Given the description of an element on the screen output the (x, y) to click on. 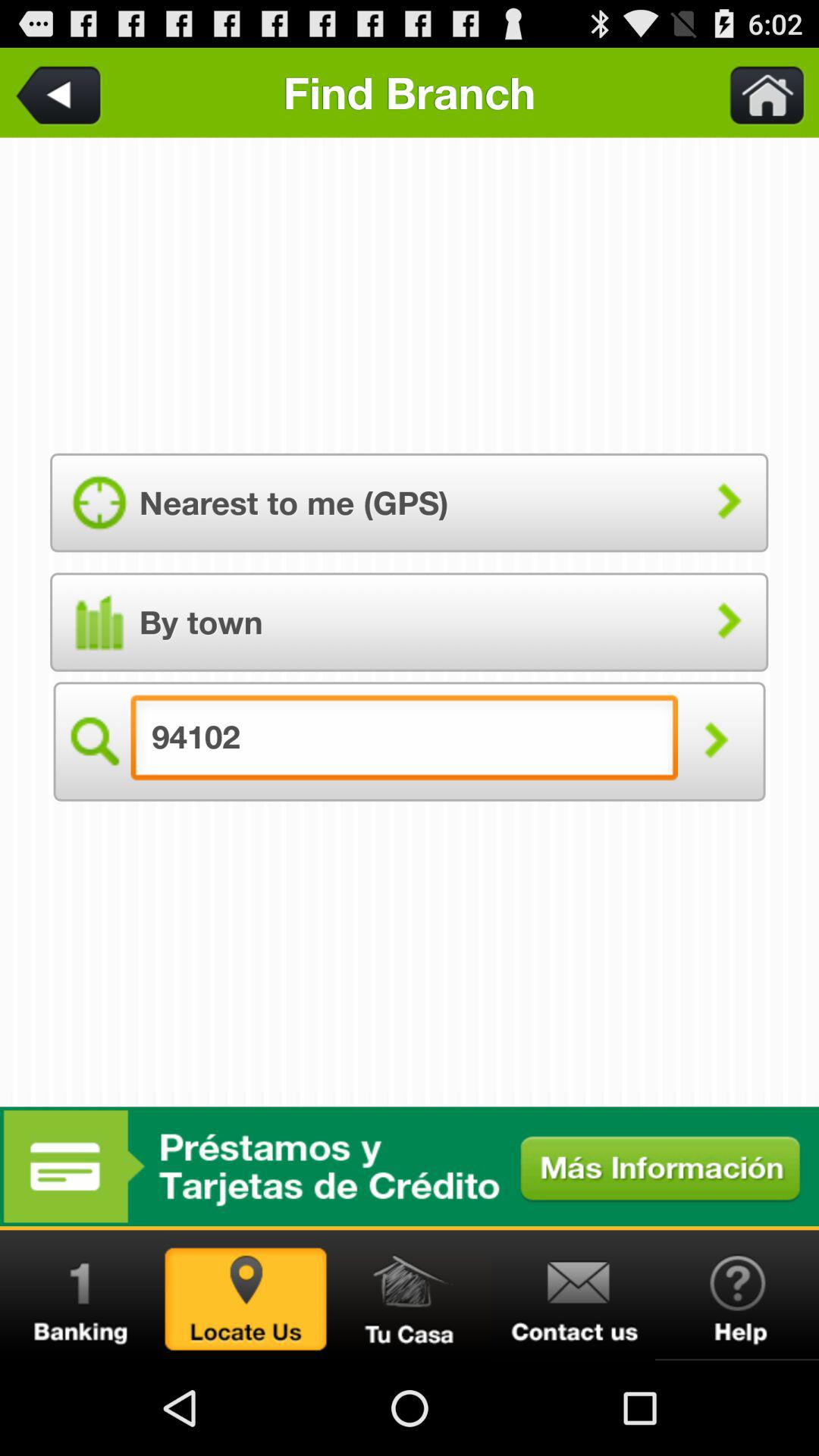
go back (61, 92)
